Given the description of an element on the screen output the (x, y) to click on. 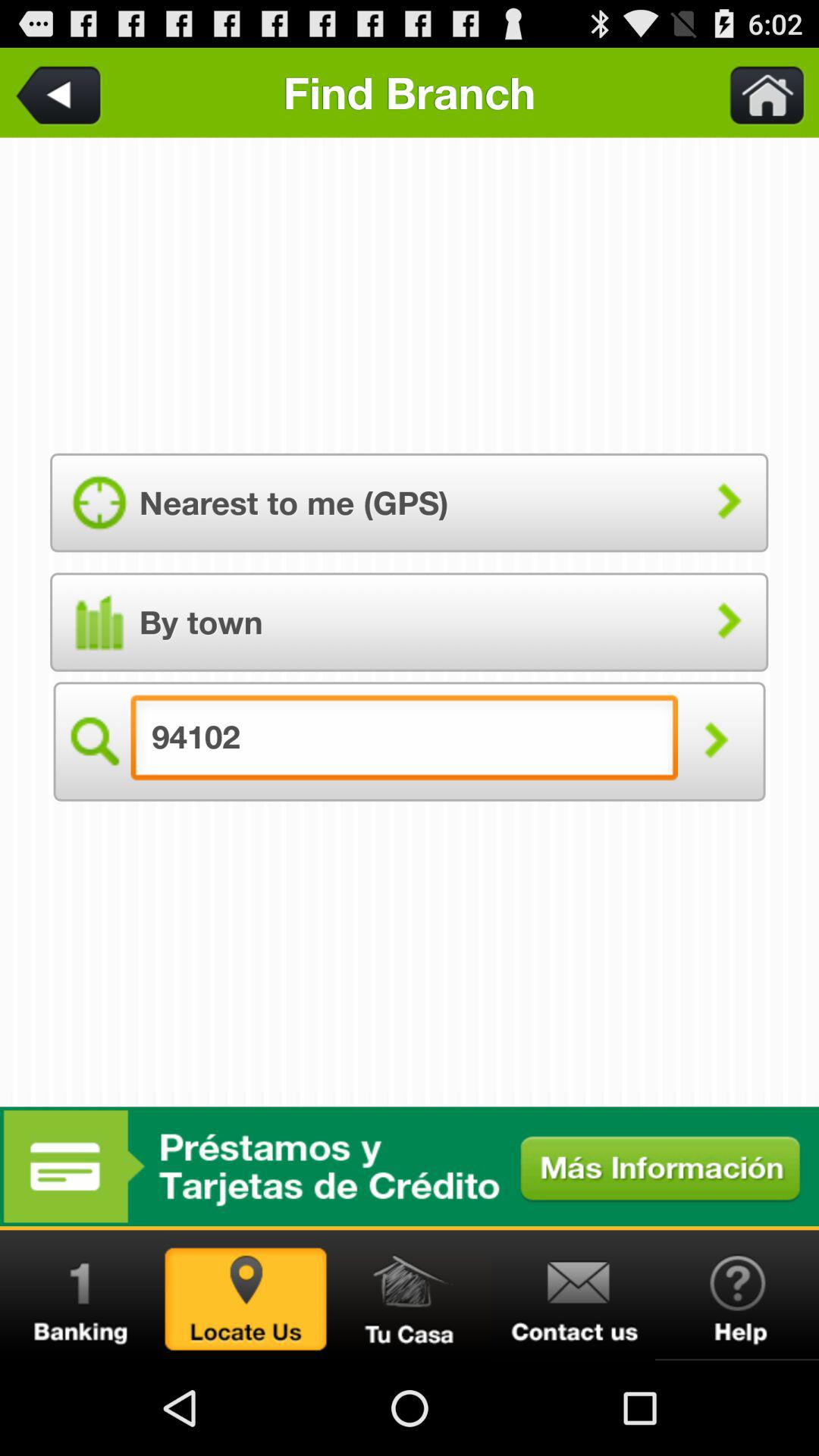
go back (61, 92)
